Given the description of an element on the screen output the (x, y) to click on. 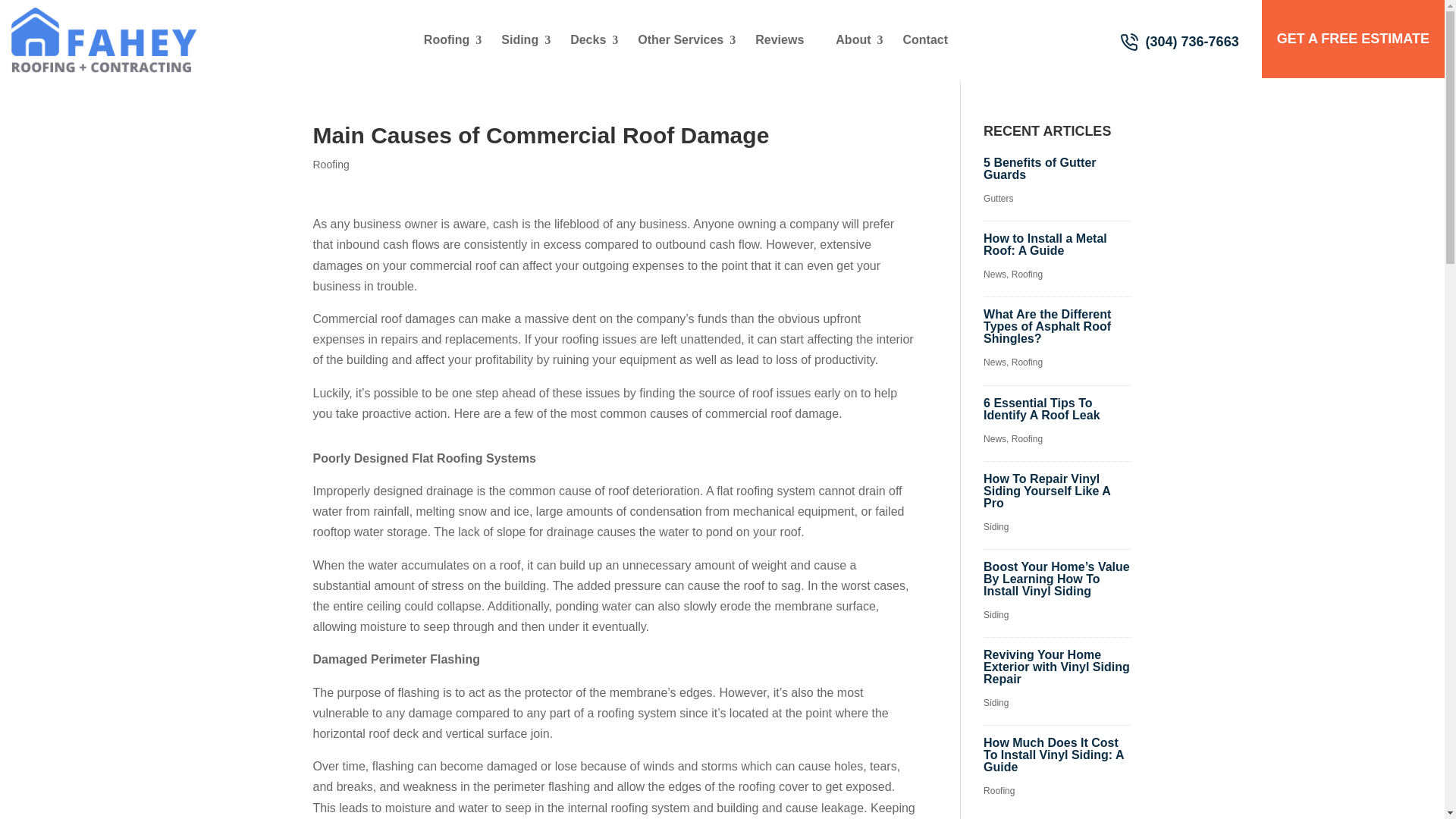
Reviews (779, 39)
Other Services (680, 39)
Roofing (446, 39)
Contact (925, 39)
